Given the description of an element on the screen output the (x, y) to click on. 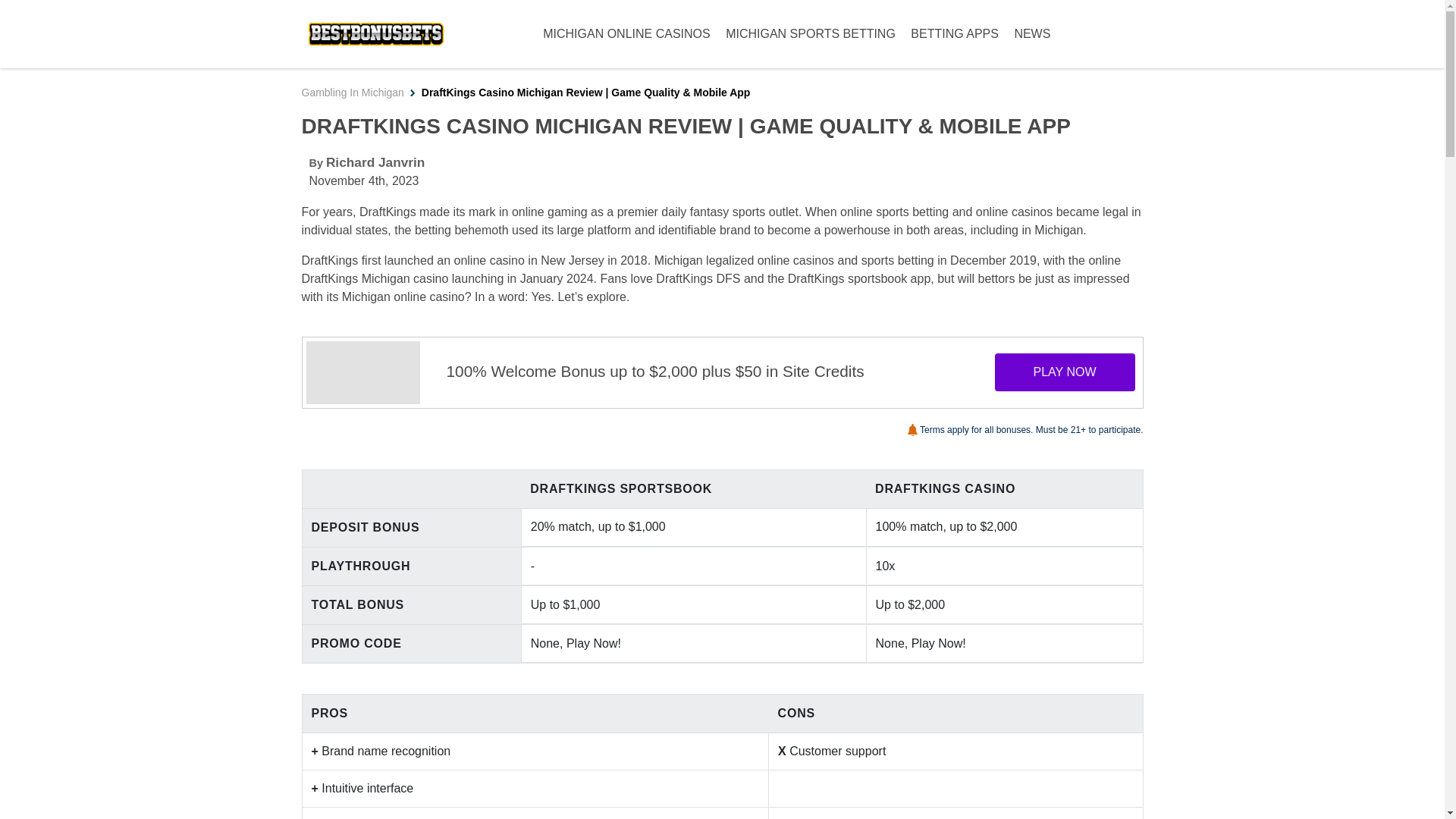
MICHIGAN SPORTS BETTING (810, 33)
DraftKings Casino (362, 372)
Richard Janvrin (375, 161)
Gambling In Michigan (352, 92)
MICHIGAN ONLINE CASINOS (626, 33)
bestbonusbets.com logo (376, 33)
Gambling In Michigan (352, 92)
BETTING APPS (954, 33)
